Given the description of an element on the screen output the (x, y) to click on. 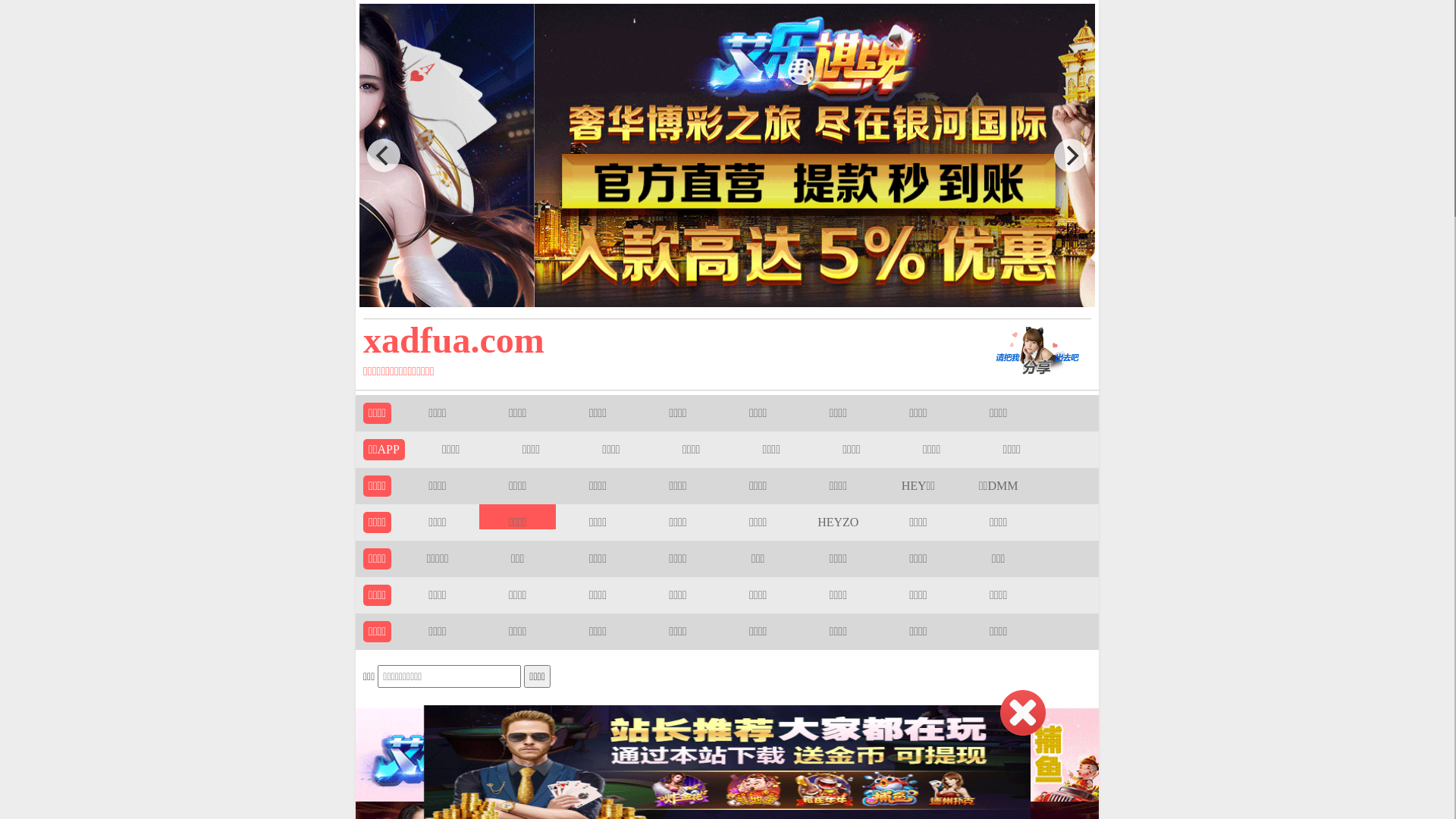
HEYZO Element type: text (837, 521)
xadfua.com Element type: text (654, 339)
